Given the description of an element on the screen output the (x, y) to click on. 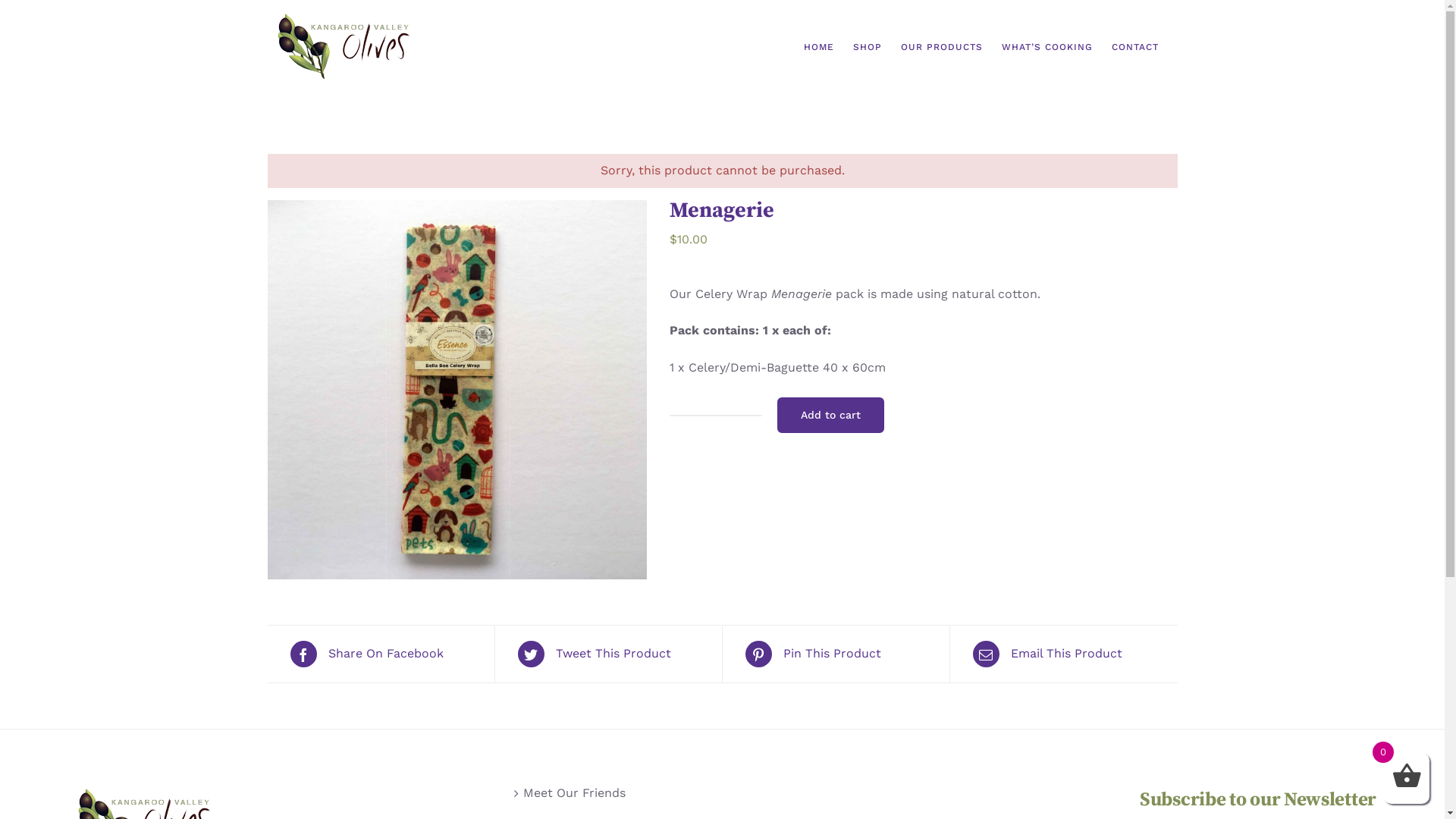
Pin This Product Element type: text (834, 653)
Meet Our Friends Element type: text (722, 793)
Add to cart Element type: text (829, 415)
Email This Product Element type: text (1063, 653)
SHOP Element type: text (866, 46)
Share On Facebook Element type: text (379, 653)
HOME Element type: text (818, 46)
OUR PRODUCTS Element type: text (941, 46)
Tweet This Product Element type: text (607, 653)
CONTACT Element type: text (1134, 46)
Essence-of-Kangaroo-Valley-Menagerie-Celery Element type: hover (456, 389)
